Given the description of an element on the screen output the (x, y) to click on. 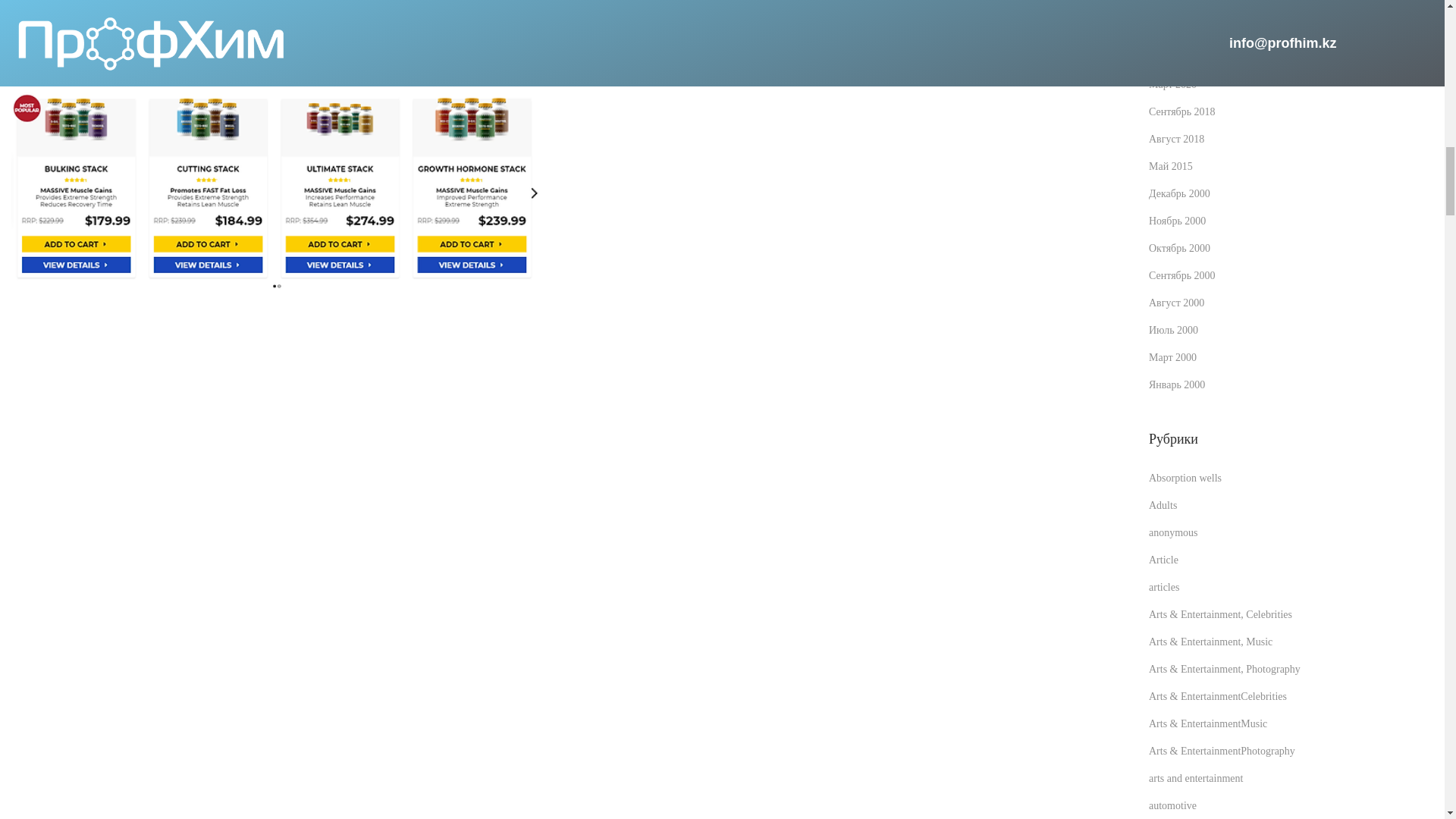
leprosy drugs anti (276, 174)
anti leprosy drugs (276, 9)
